Given the description of an element on the screen output the (x, y) to click on. 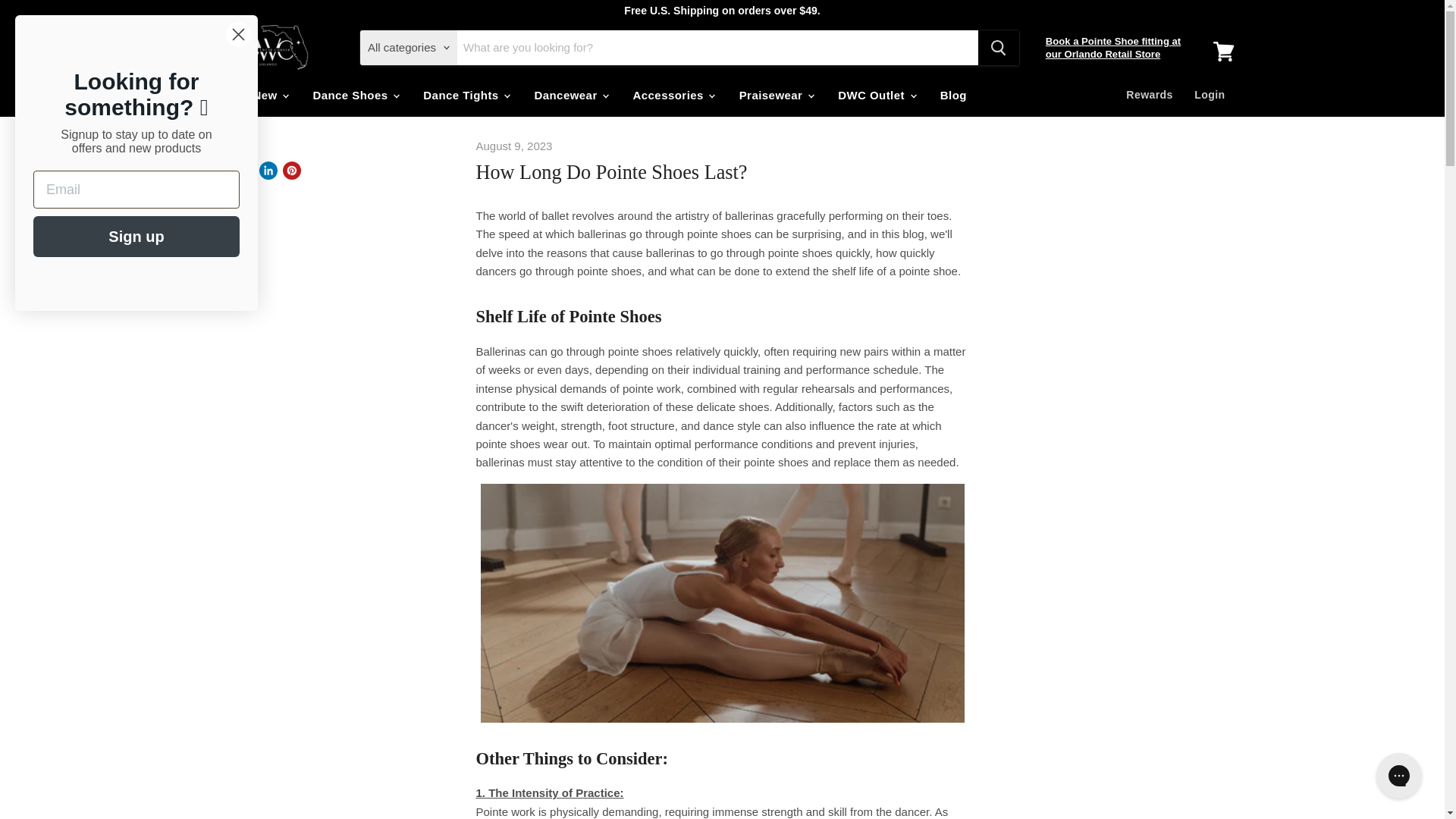
Dance Shoes (355, 94)
View cart (1223, 51)
Book a Pointe Shoe fitting at our Orlando Retail Store (1112, 47)
What's New (248, 94)
